Given the description of an element on the screen output the (x, y) to click on. 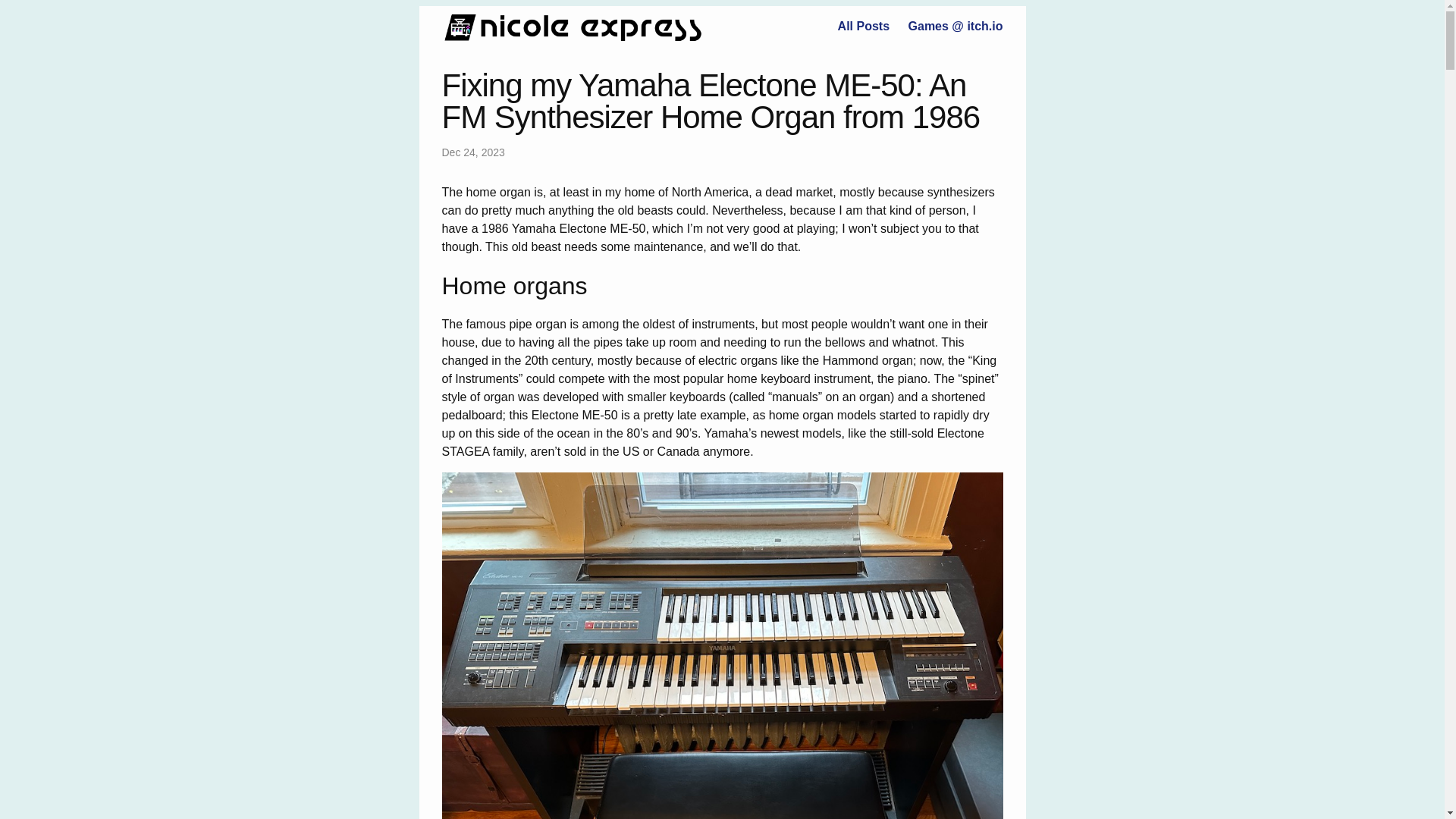
All Posts (863, 25)
